Given the description of an element on the screen output the (x, y) to click on. 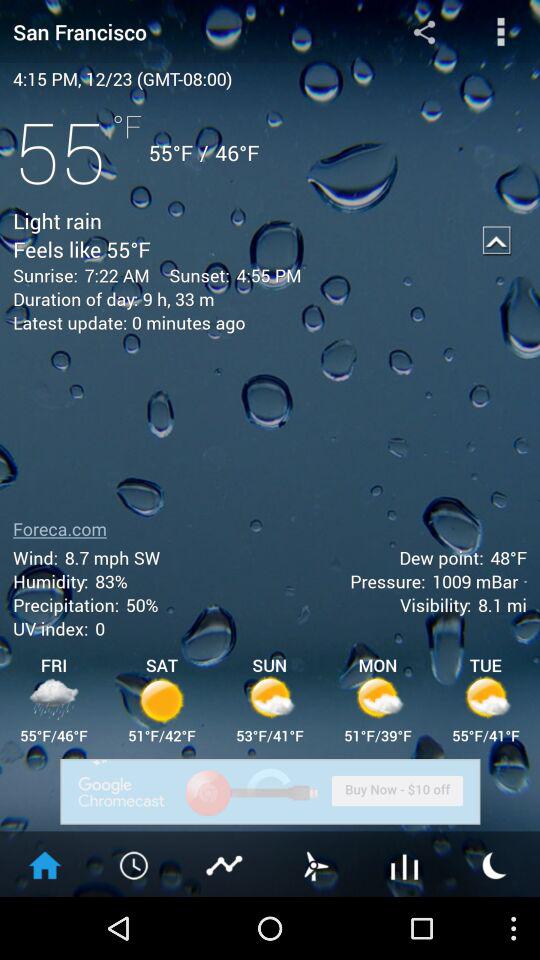
go to home (45, 864)
